Given the description of an element on the screen output the (x, y) to click on. 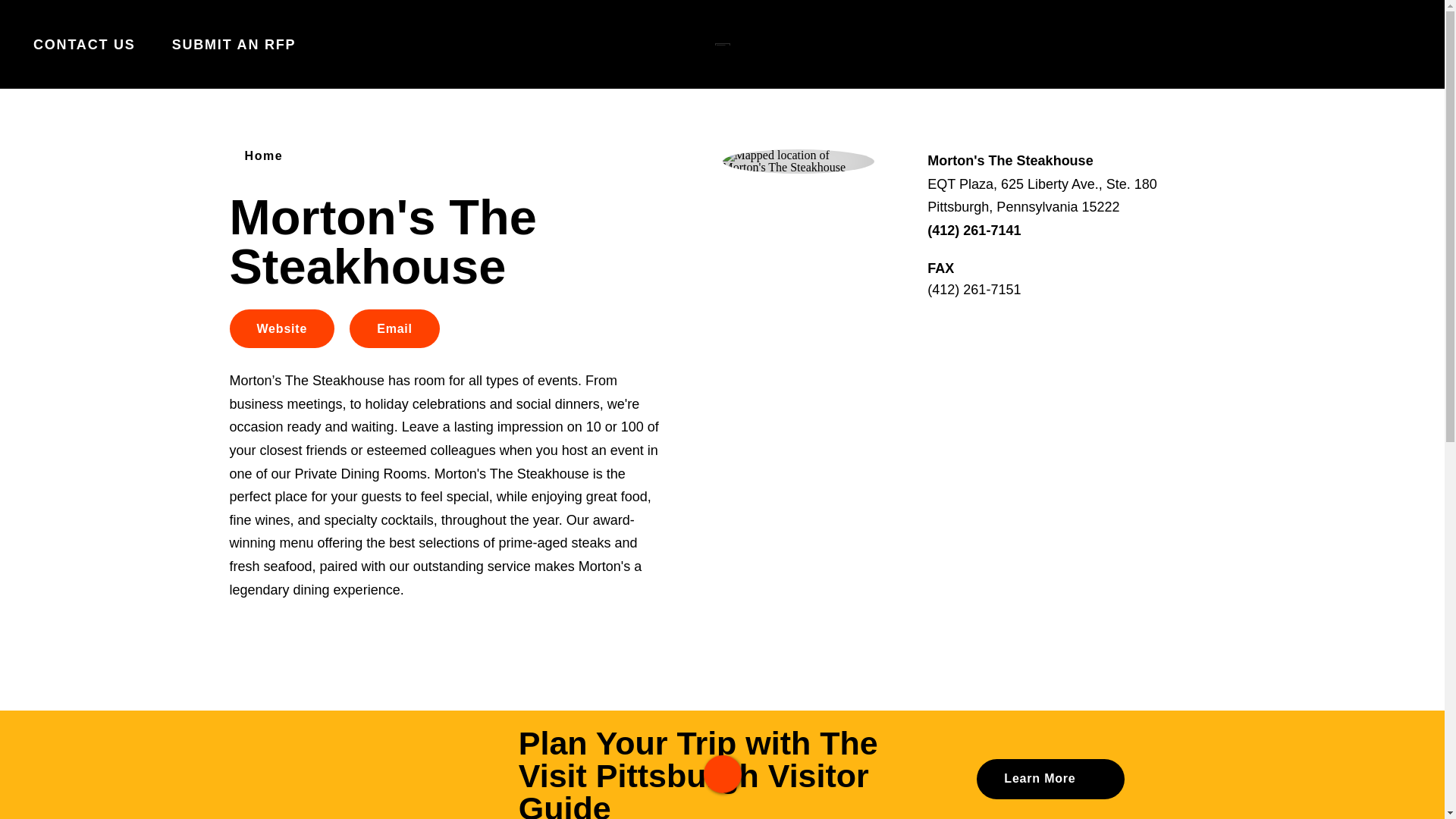
Plan Your Trip with The Visit Pittsburgh Visitor Guide (721, 773)
SUBMIT AN RFP (234, 43)
CONTACT US (84, 43)
Home (258, 155)
Skip to content (17, 15)
Website (281, 328)
Learn More (1050, 779)
Email (394, 328)
